Given the description of an element on the screen output the (x, y) to click on. 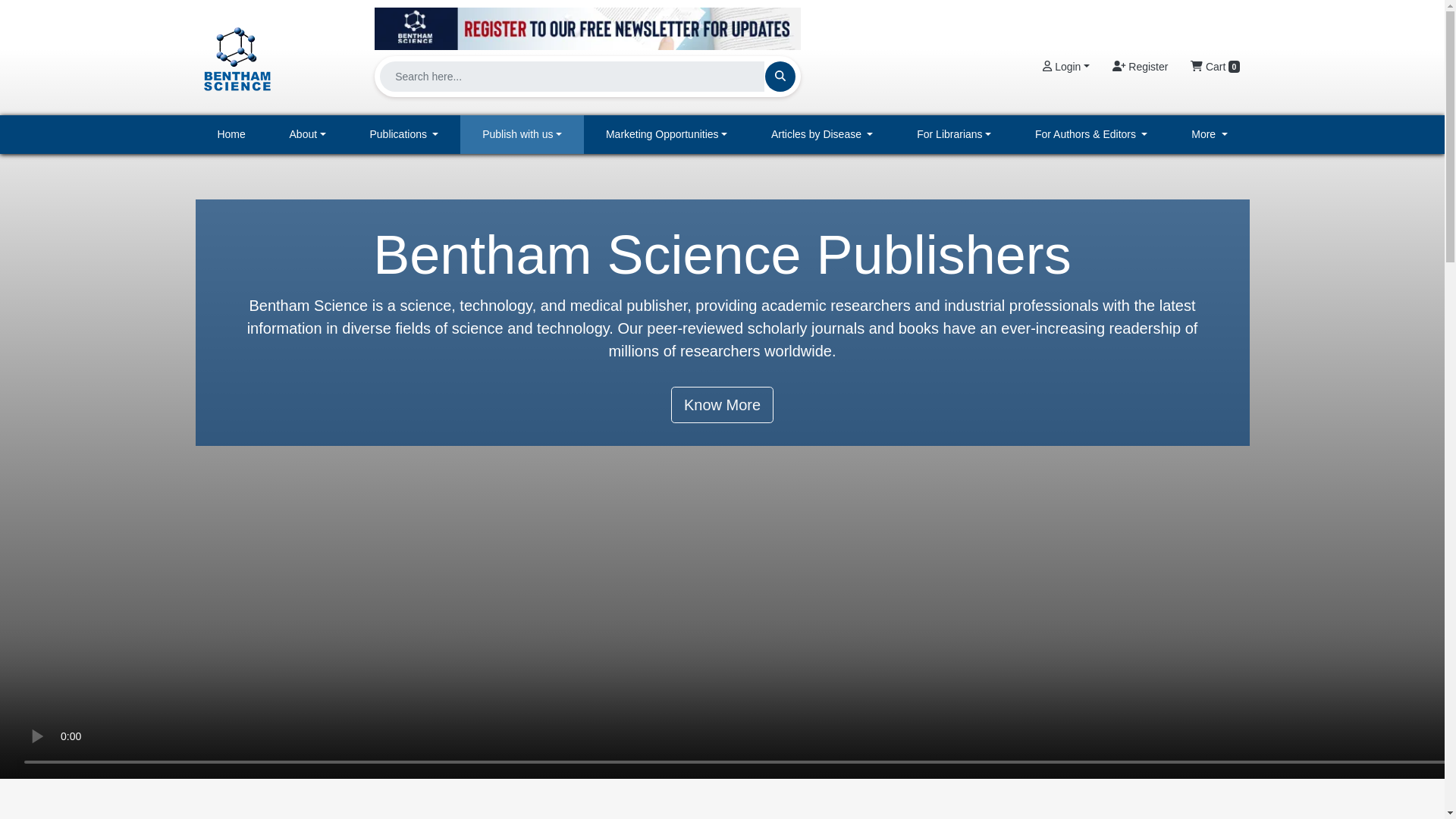
Cart 0 (1214, 67)
About (307, 134)
Home (231, 134)
Register (1139, 67)
newsletter banner (587, 24)
Publications (404, 134)
newsletter banner (587, 28)
Search Button (779, 76)
Login (1065, 67)
